Given the description of an element on the screen output the (x, y) to click on. 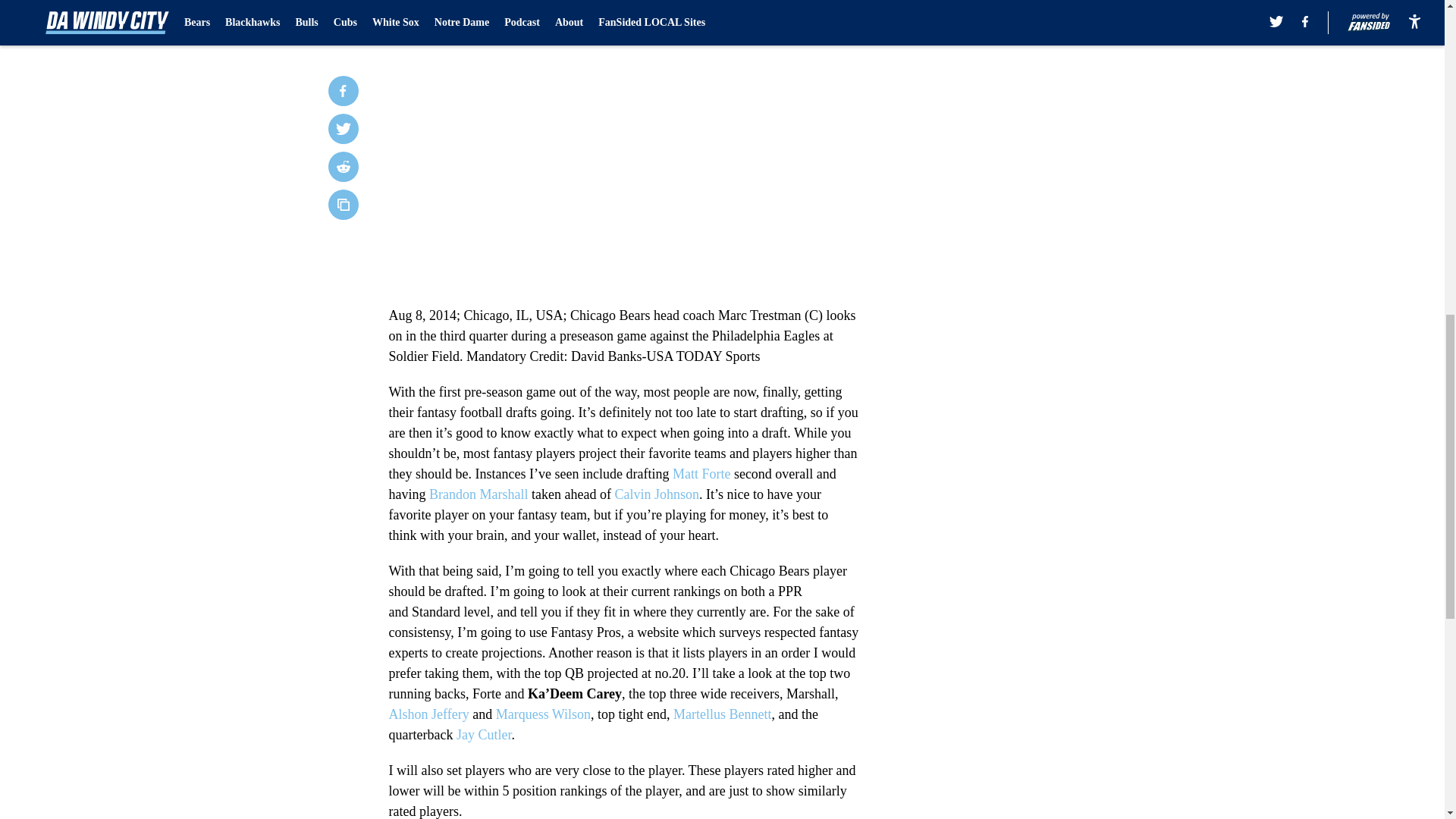
Alshon Jeffery (428, 713)
Calvin Johnson (656, 494)
Martellus Bennett (721, 713)
Jay Cutler (484, 734)
Brandon Marshall (478, 494)
Matt Forte (701, 473)
Next (813, 5)
Prev (433, 5)
Marquess Wilson (543, 713)
